Given the description of an element on the screen output the (x, y) to click on. 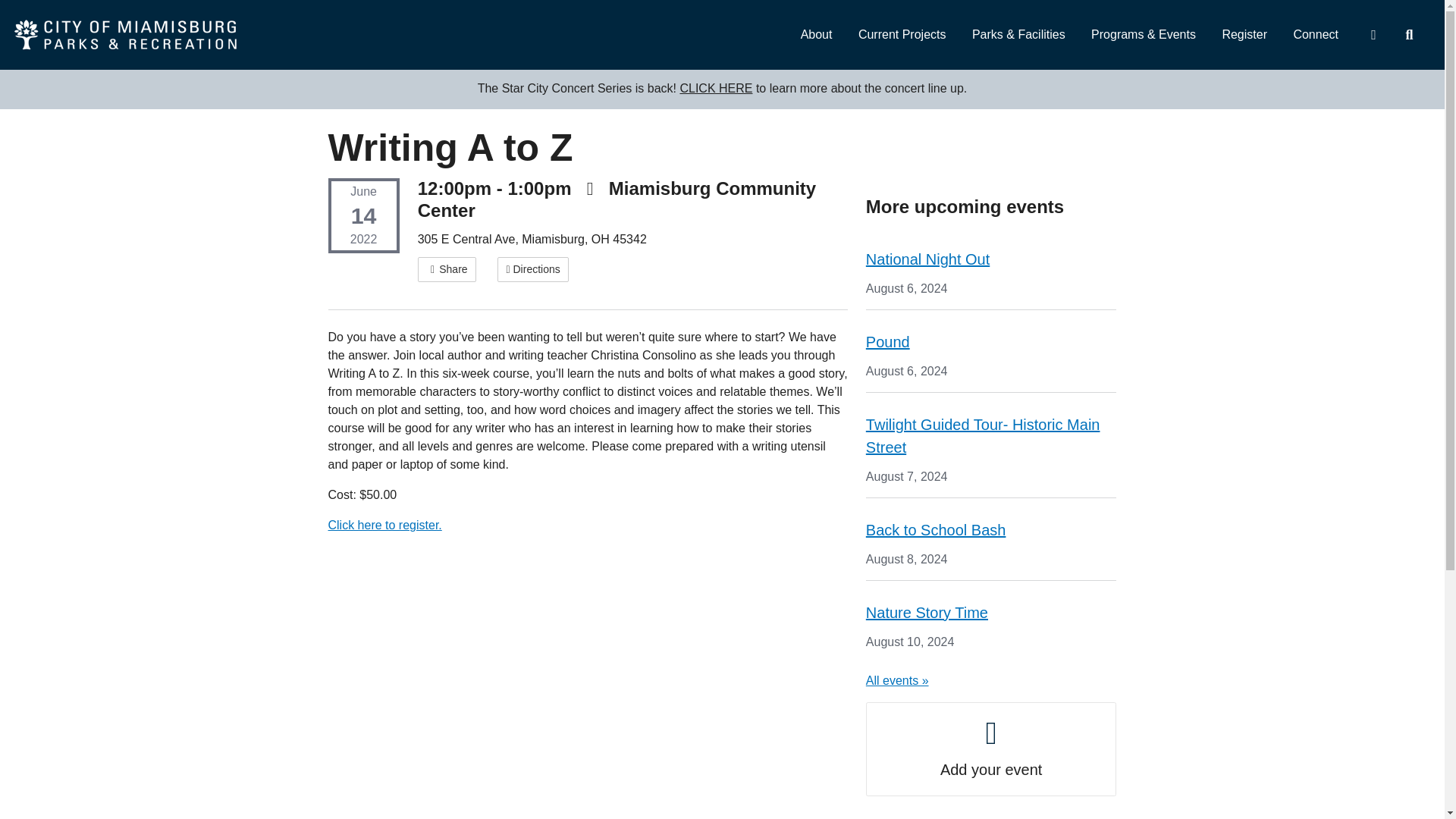
Answers (1372, 35)
Connect (1315, 34)
Home (125, 34)
Click here to register. (384, 524)
Nature Story Time (927, 612)
National Night Out (928, 258)
Search (1408, 35)
Current Projects (902, 34)
Add your event (991, 748)
Share (446, 269)
Home (125, 34)
Back to School Bash (936, 529)
CLICK HERE (715, 88)
About (816, 34)
